Given the description of an element on the screen output the (x, y) to click on. 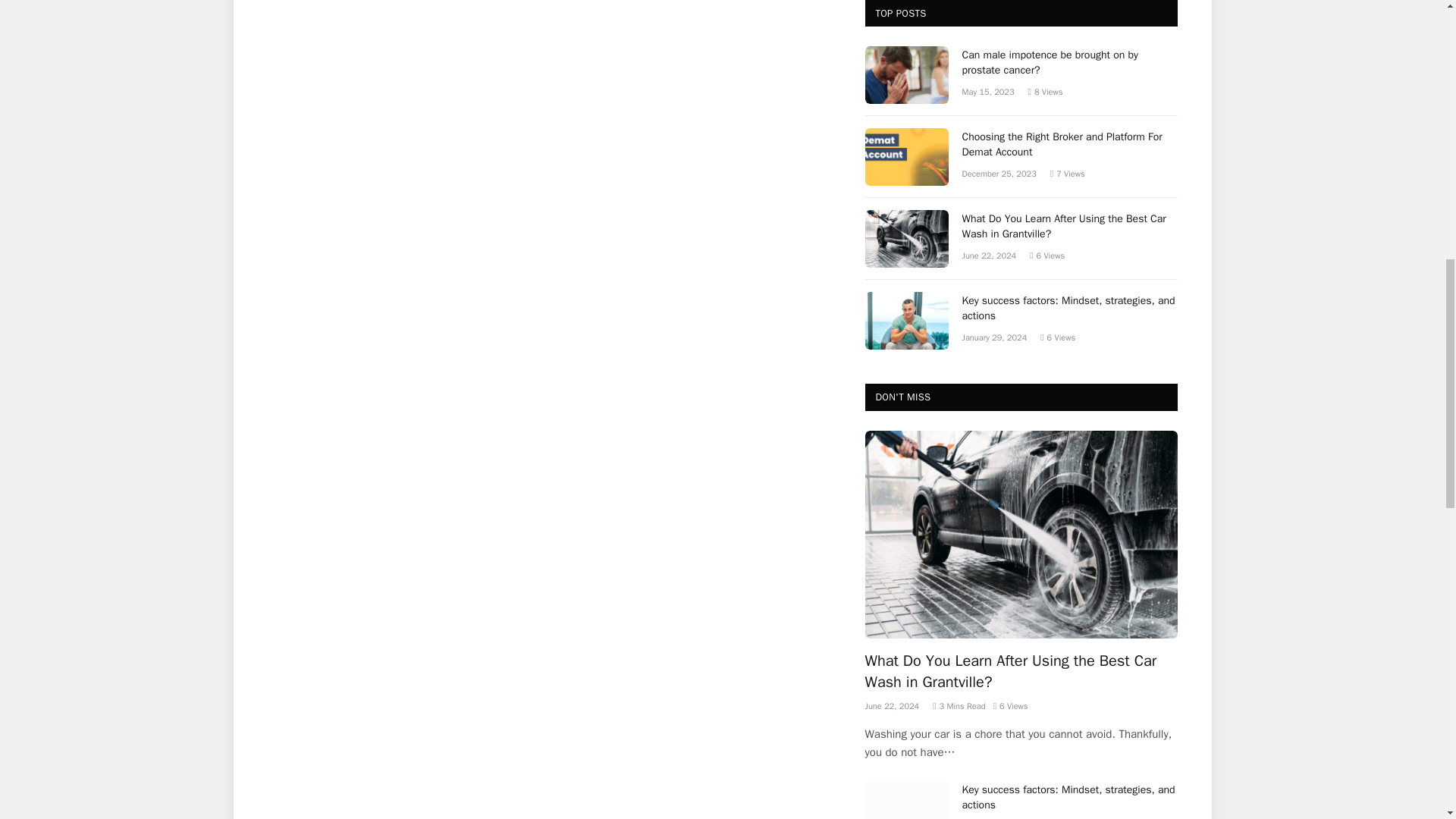
8 Article Views (1044, 91)
Choosing the Right Broker and Platform For Demat Account (906, 156)
Can male impotence be brought on by prostate cancer? (906, 74)
7 Article Views (1066, 173)
